Given the description of an element on the screen output the (x, y) to click on. 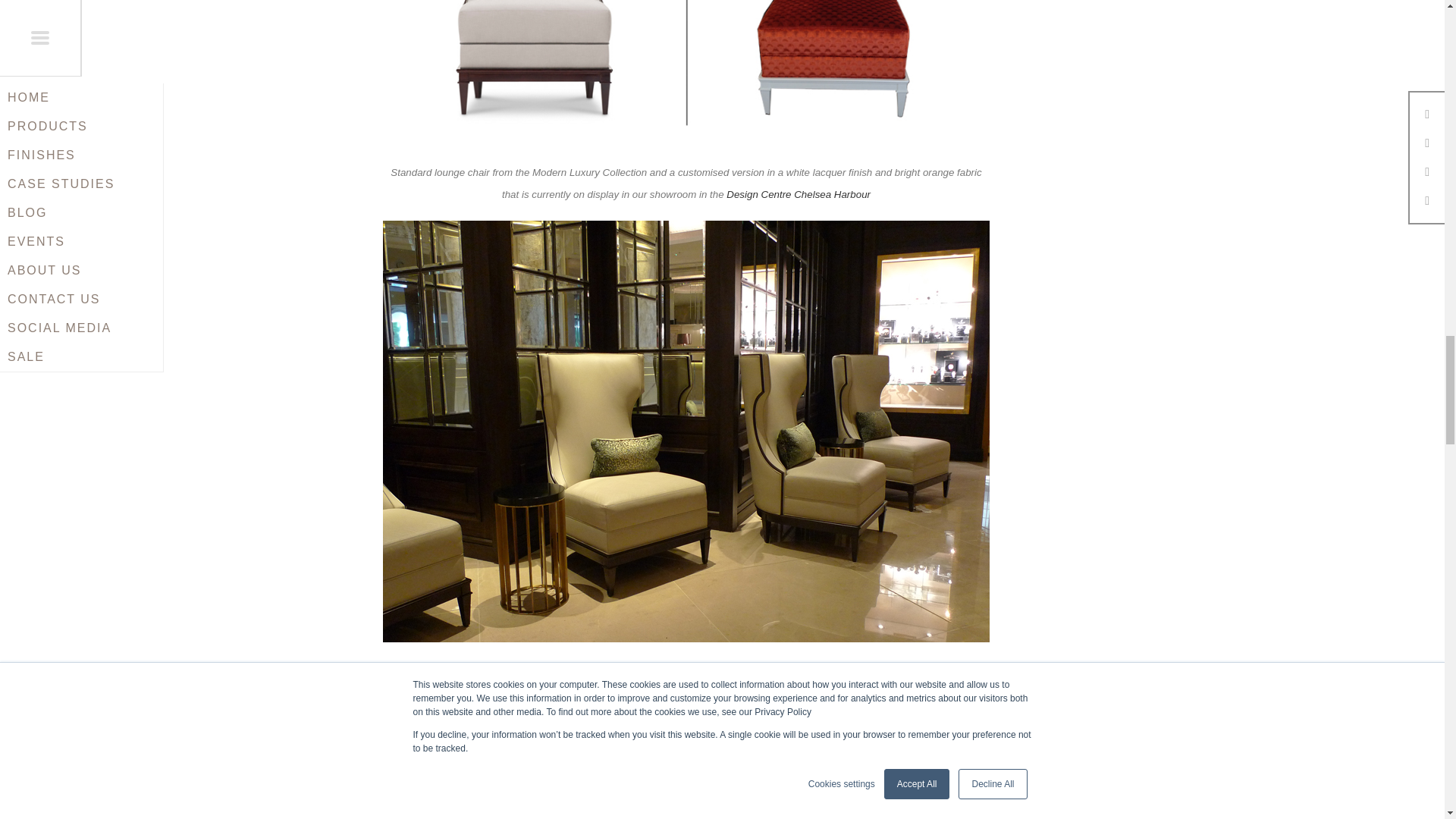
The Park Tower Knightsbridge, a Luxury Collection Hotel (825, 708)
Design Centre Chelsea Harbour (798, 194)
The Park Tower Knightsbridge, a Luxury Collection Hotel (825, 708)
Design Centre Chelsea Harbour (798, 194)
